Given the description of an element on the screen output the (x, y) to click on. 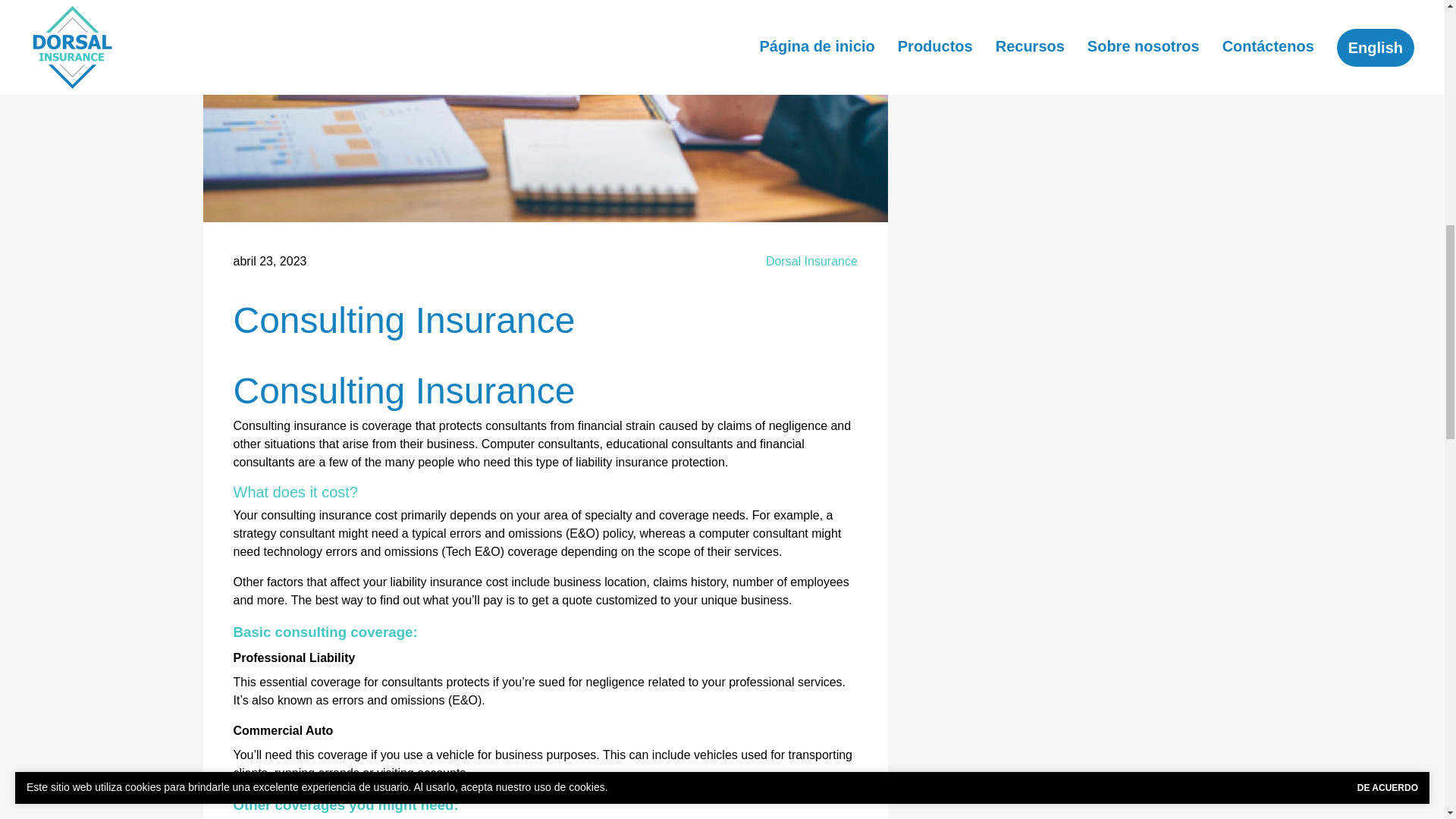
Dorsal Insurance (811, 261)
Dorsal Insurance (811, 261)
